Given the description of an element on the screen output the (x, y) to click on. 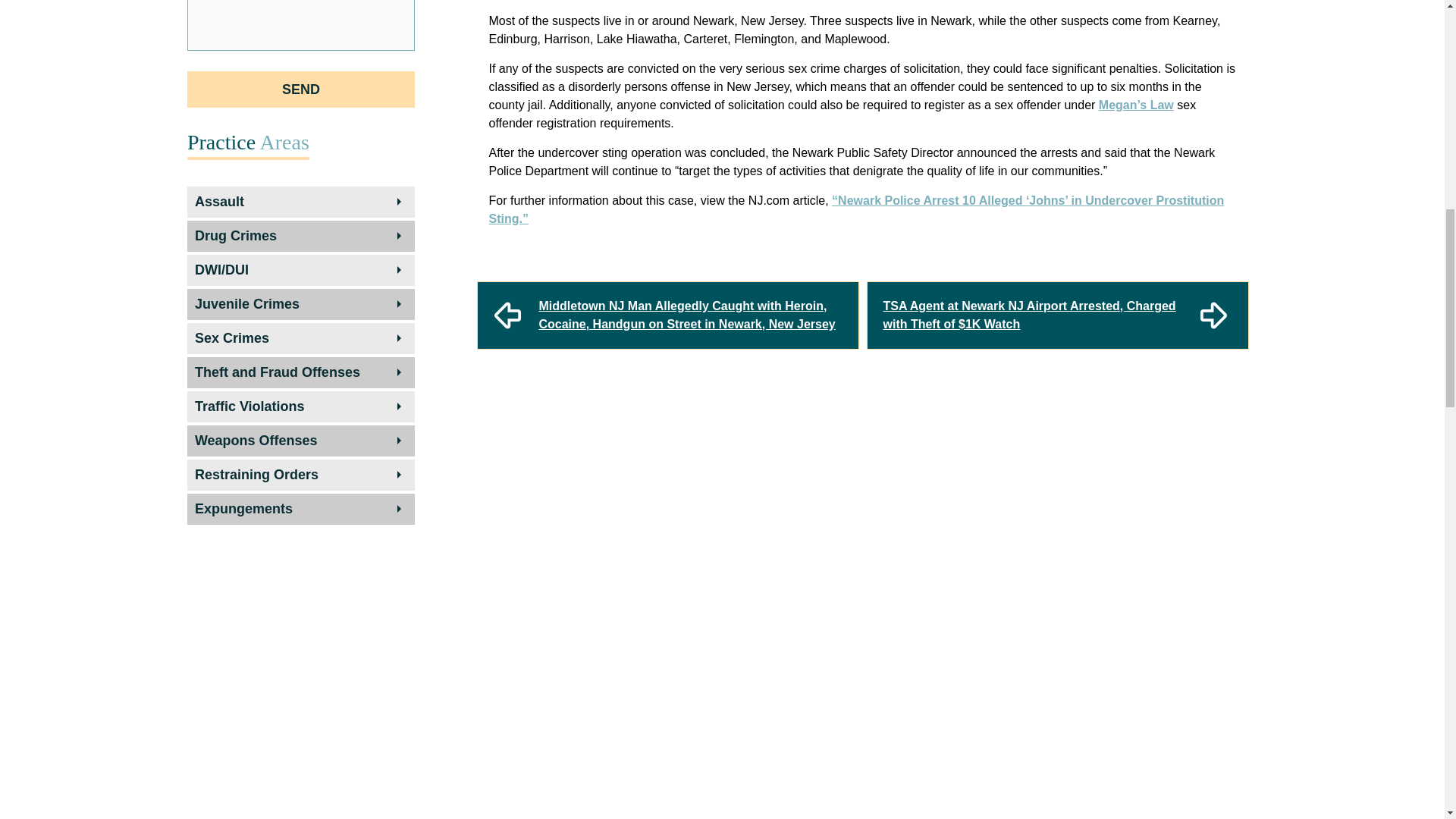
Drug Crimes (300, 236)
Send (300, 89)
Assault (300, 201)
Send (300, 89)
